Given the description of an element on the screen output the (x, y) to click on. 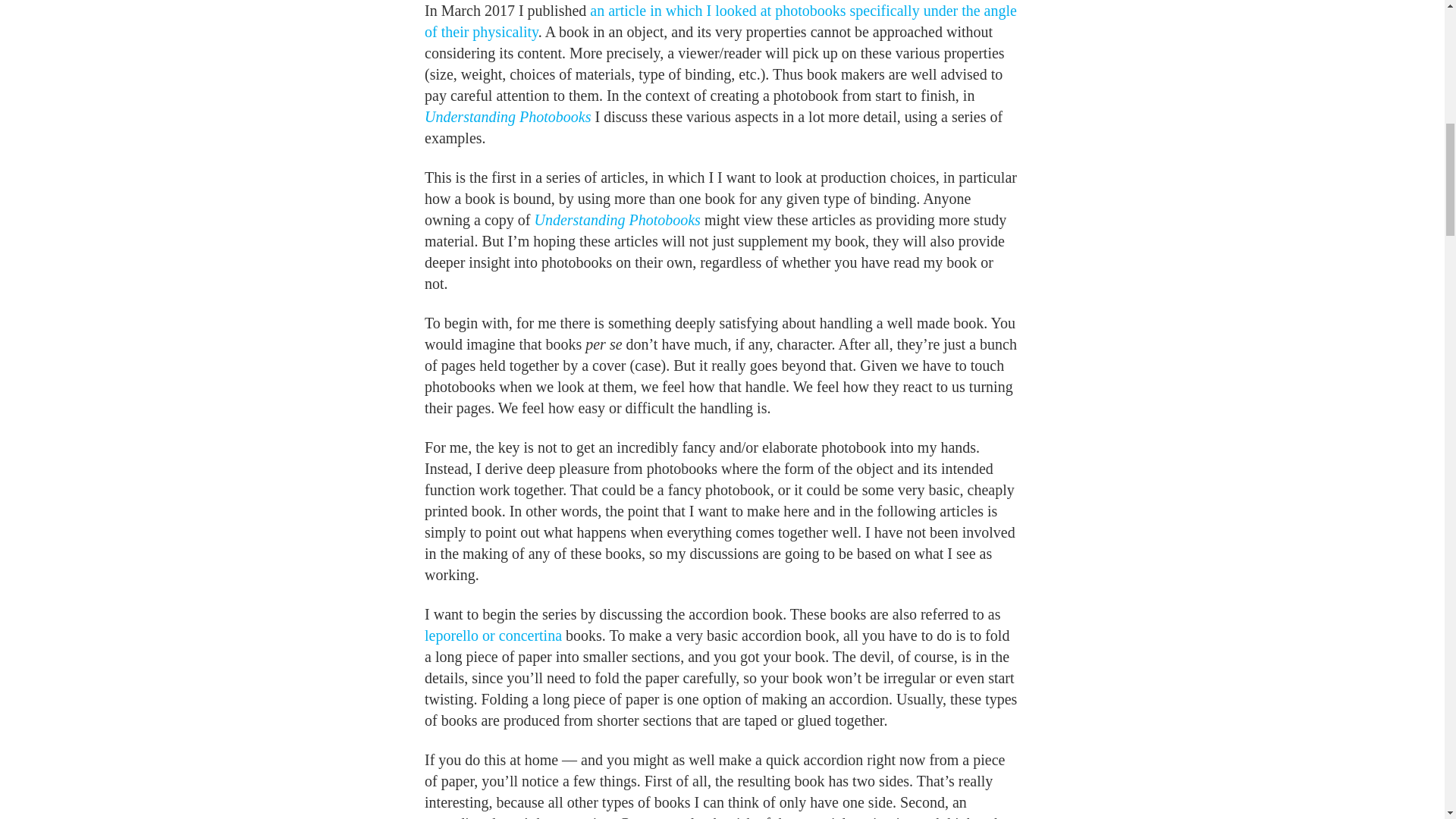
Understanding Photobooks (508, 116)
leporello or concertina (493, 635)
Understanding Photobooks (617, 219)
